Given the description of an element on the screen output the (x, y) to click on. 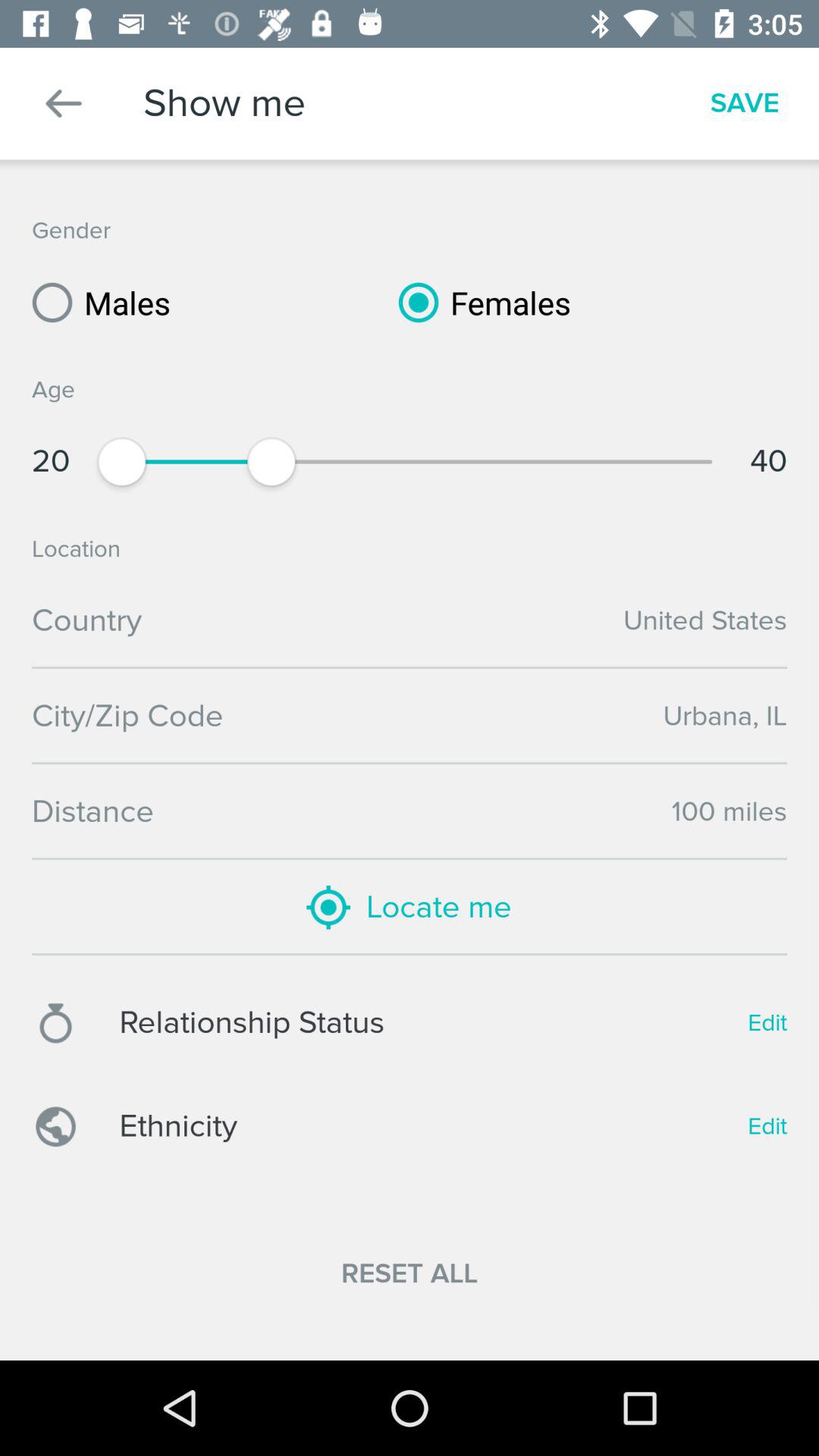
open the icon above the gender icon (63, 103)
